Given the description of an element on the screen output the (x, y) to click on. 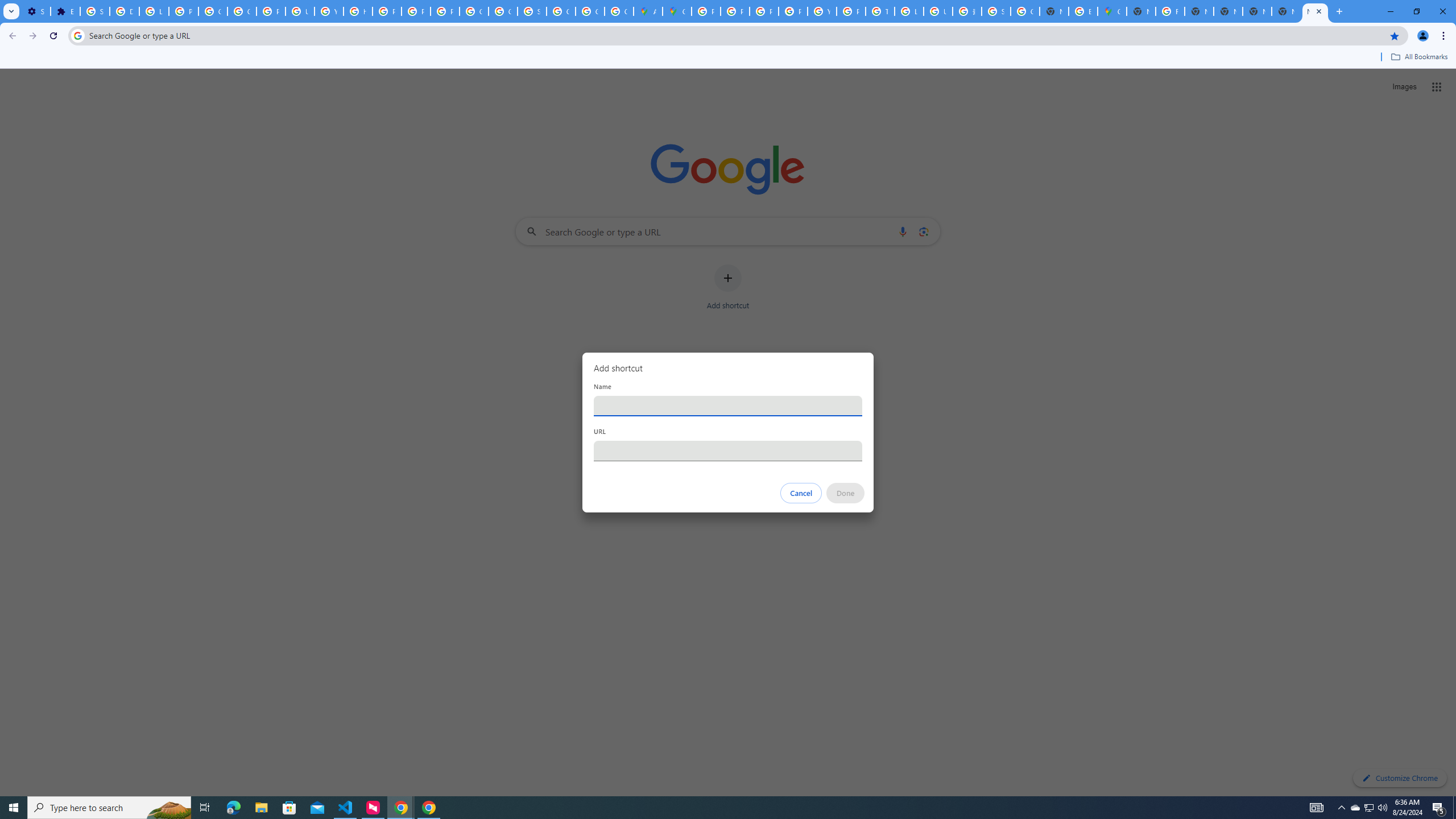
Privacy Help Center - Policies Help (386, 11)
Bookmarks (728, 58)
Tips & tricks for Chrome - Google Chrome Help (879, 11)
Settings - On startup (35, 11)
Privacy Help Center - Policies Help (763, 11)
Google Maps (677, 11)
Delete photos & videos - Computer - Google Photos Help (124, 11)
Done (845, 493)
